Given the description of an element on the screen output the (x, y) to click on. 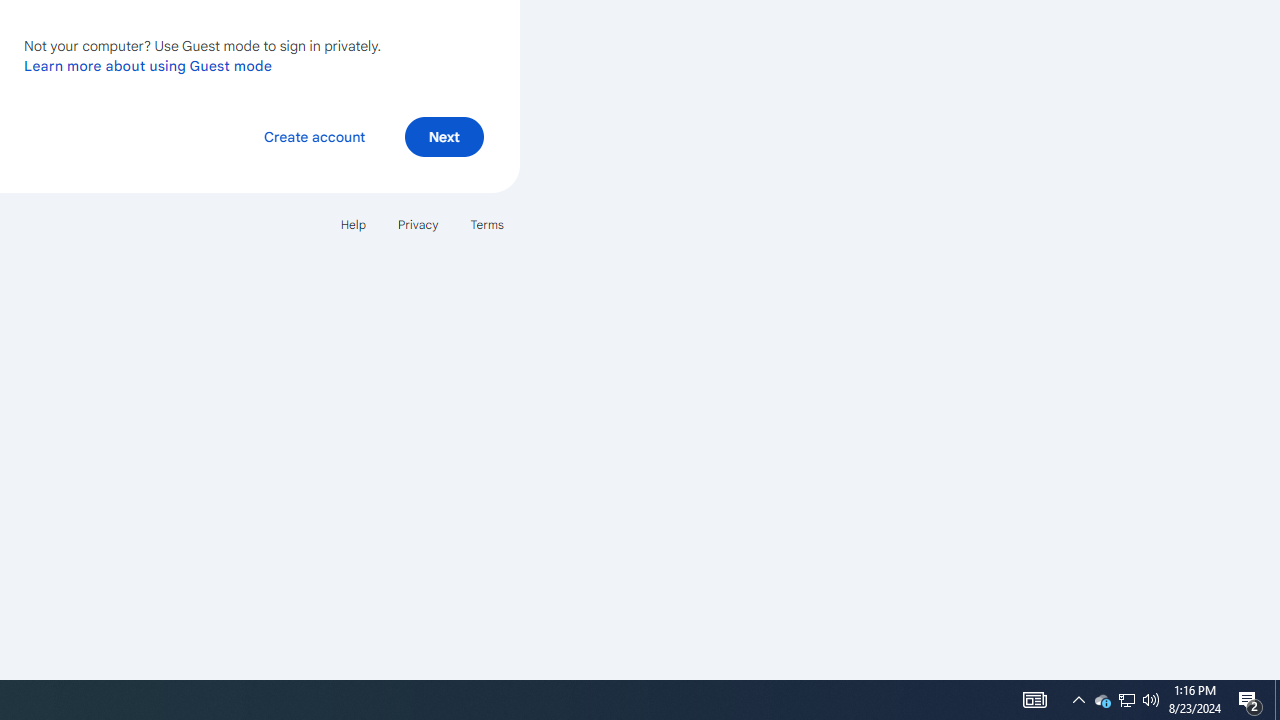
Privacy (417, 224)
Help (352, 224)
Create account (314, 135)
Next (443, 135)
Learn more about using Guest mode (148, 65)
Terms (486, 224)
